Given the description of an element on the screen output the (x, y) to click on. 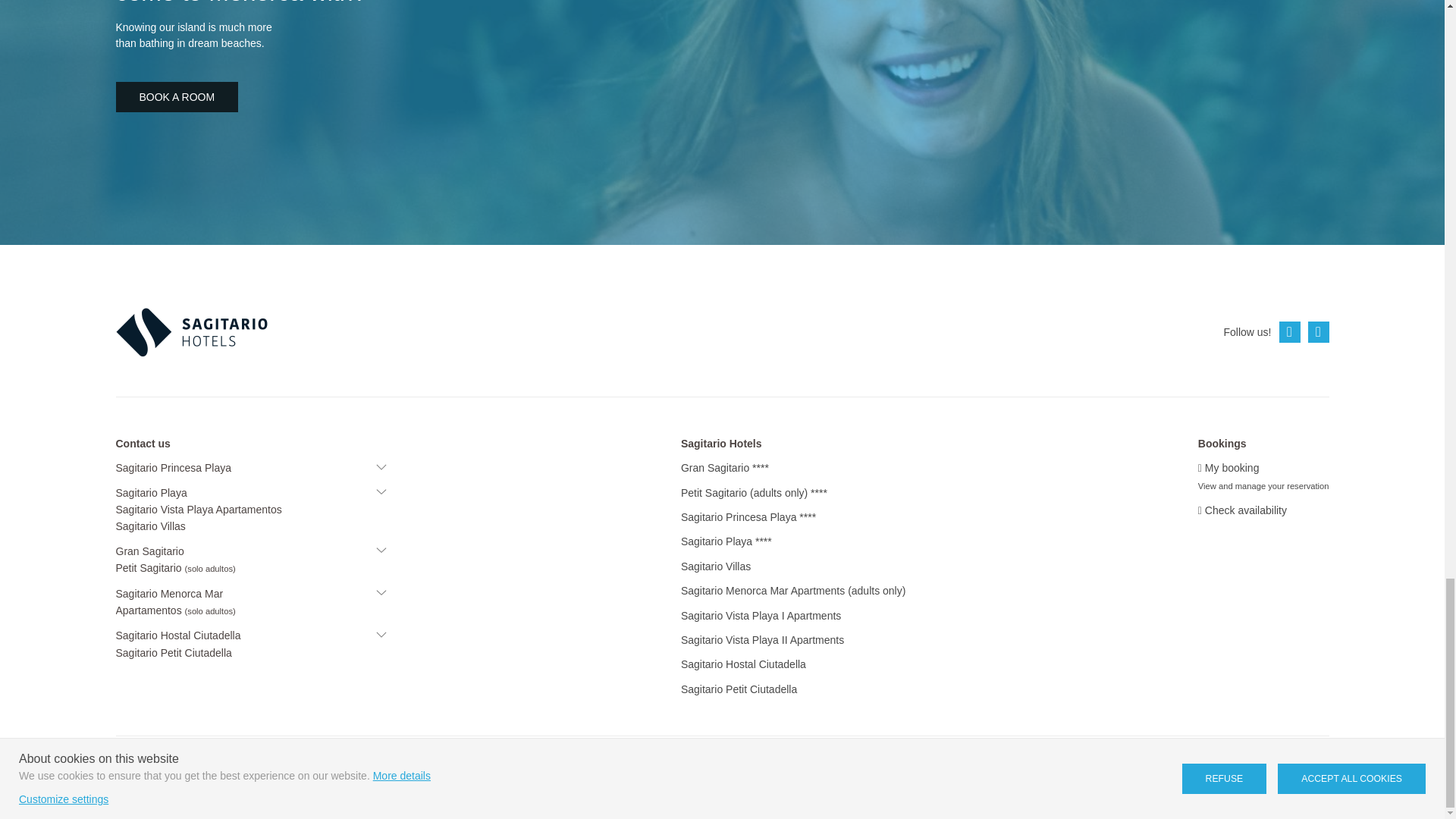
Sagitario Hotels (190, 331)
